Given the description of an element on the screen output the (x, y) to click on. 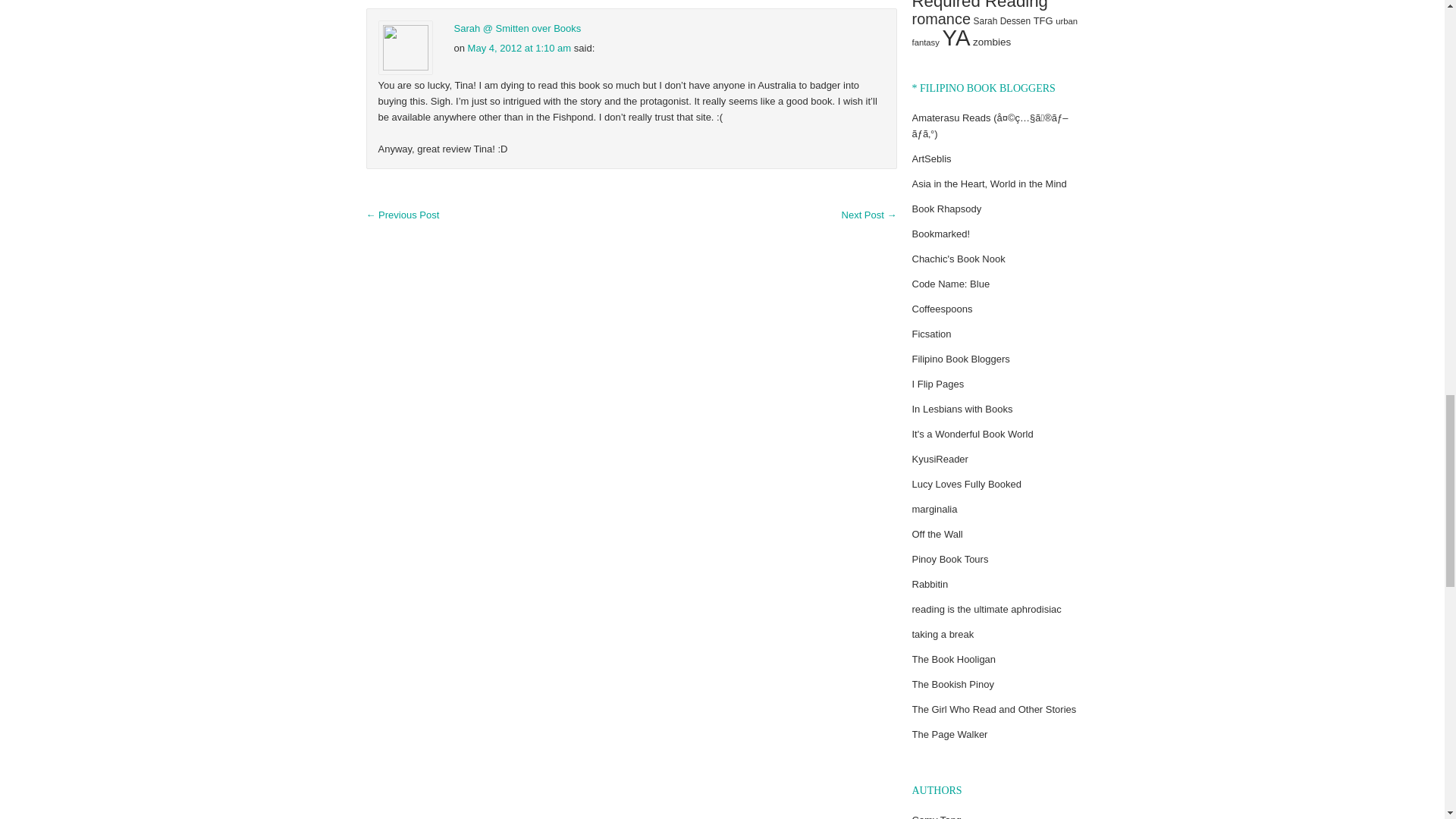
May 4, 2012 at 1:10 am (519, 48)
